Given the description of an element on the screen output the (x, y) to click on. 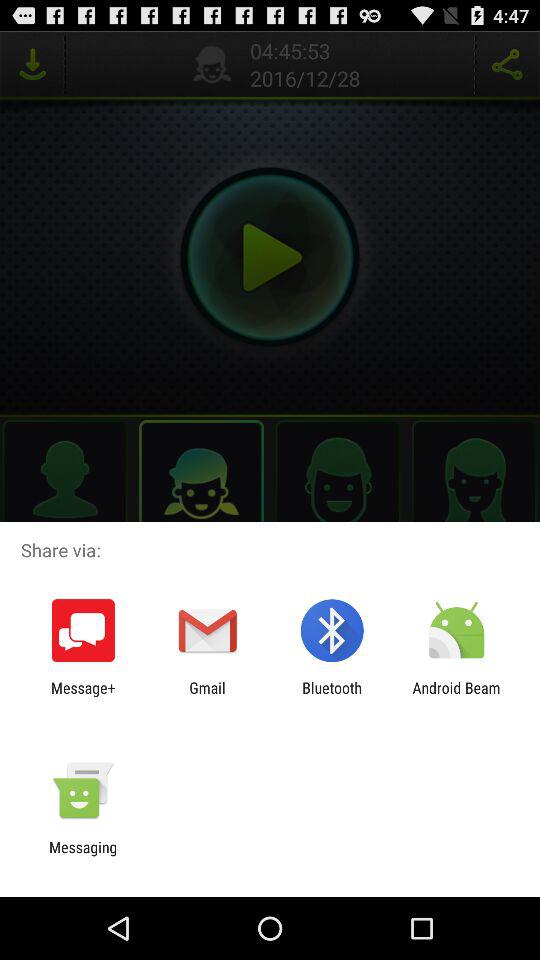
scroll until the gmail icon (207, 696)
